Given the description of an element on the screen output the (x, y) to click on. 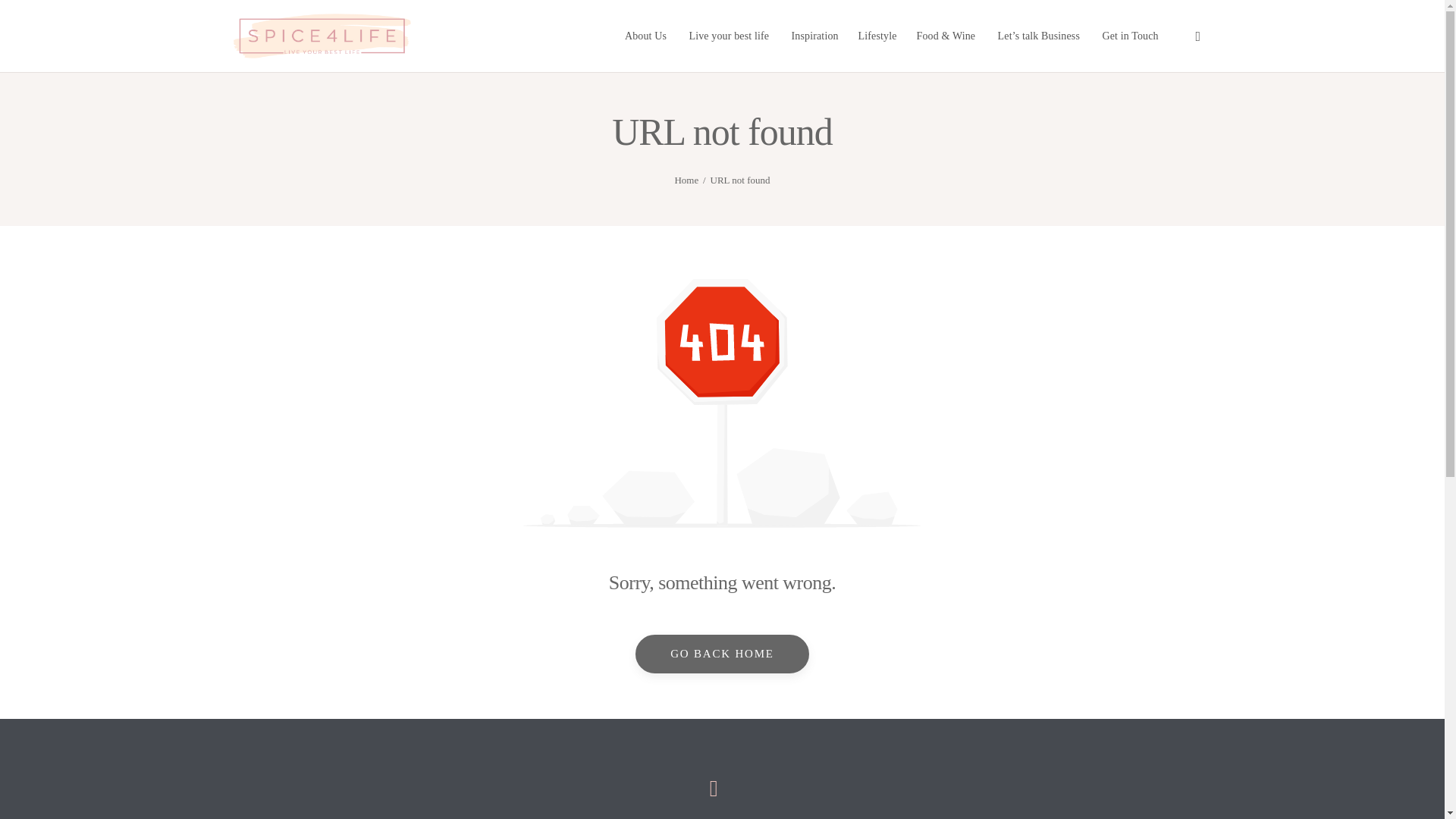
About Us (645, 21)
Lifestyle (876, 35)
Inspiration (813, 31)
Live your best life (729, 25)
Get in Touch (1130, 35)
Home (686, 179)
